Given the description of an element on the screen output the (x, y) to click on. 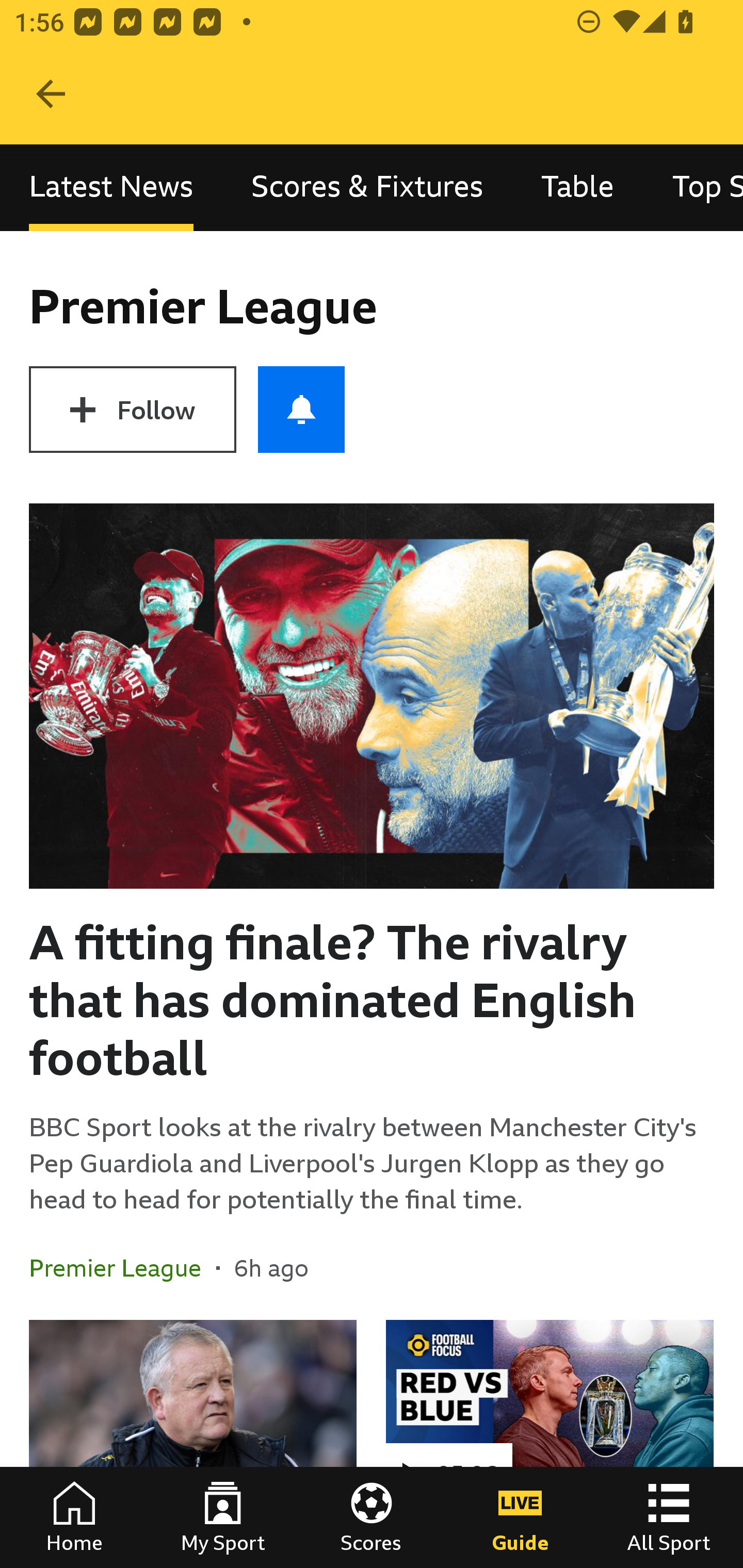
Navigate up (50, 93)
Latest News, selected Latest News (111, 187)
Scores & Fixtures (367, 187)
Table (577, 187)
Follow Premier League Follow (132, 409)
Push notifications for Premier League (300, 409)
Home (74, 1517)
My Sport (222, 1517)
Scores (371, 1517)
All Sport (668, 1517)
